Given the description of an element on the screen output the (x, y) to click on. 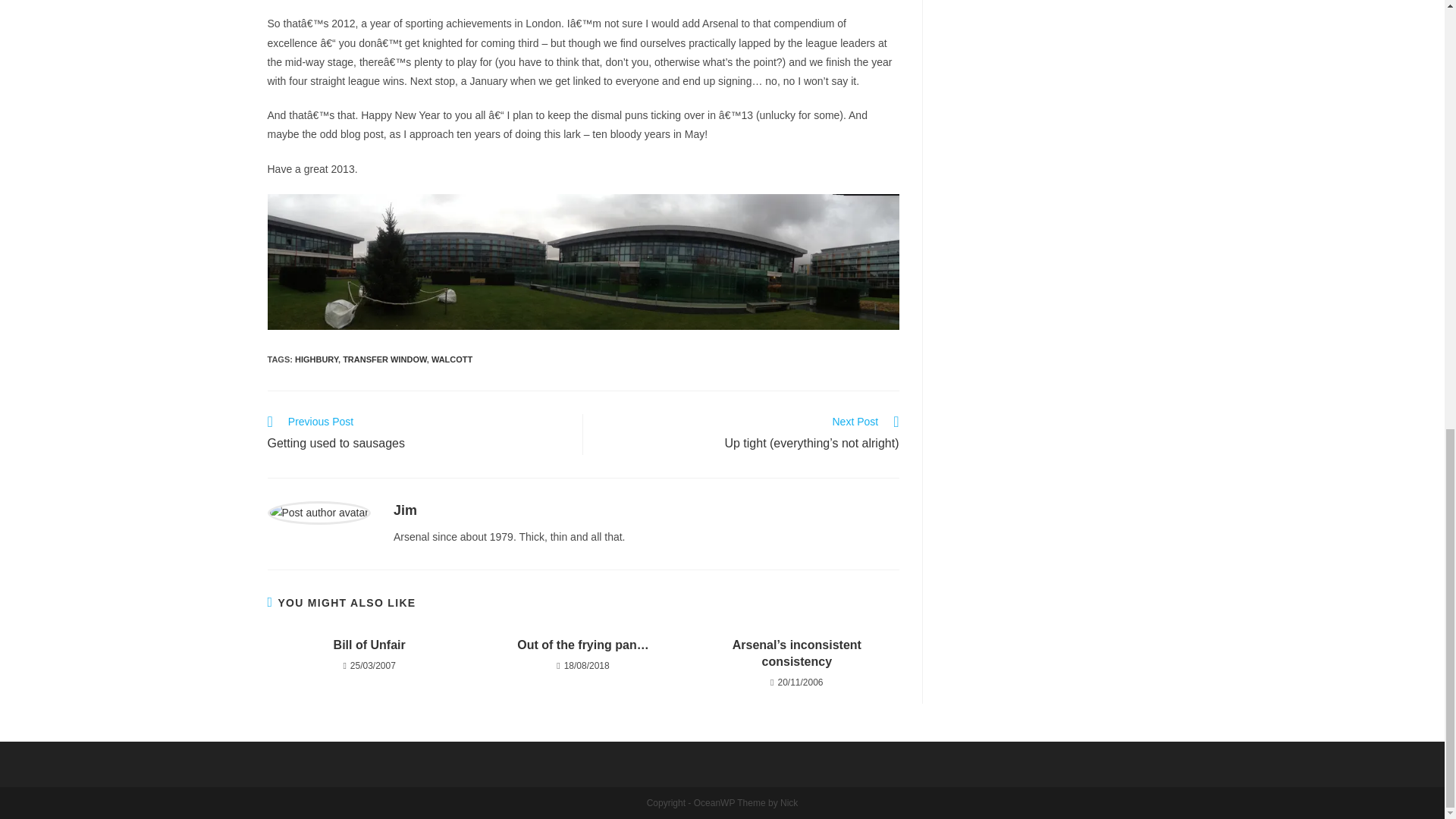
Visit author page (404, 509)
Jim (404, 509)
Visit author page (317, 511)
Bill of Unfair (416, 434)
TRANSFER WINDOW (368, 645)
HIGHBURY (384, 358)
WALCOTT (316, 358)
